Given the description of an element on the screen output the (x, y) to click on. 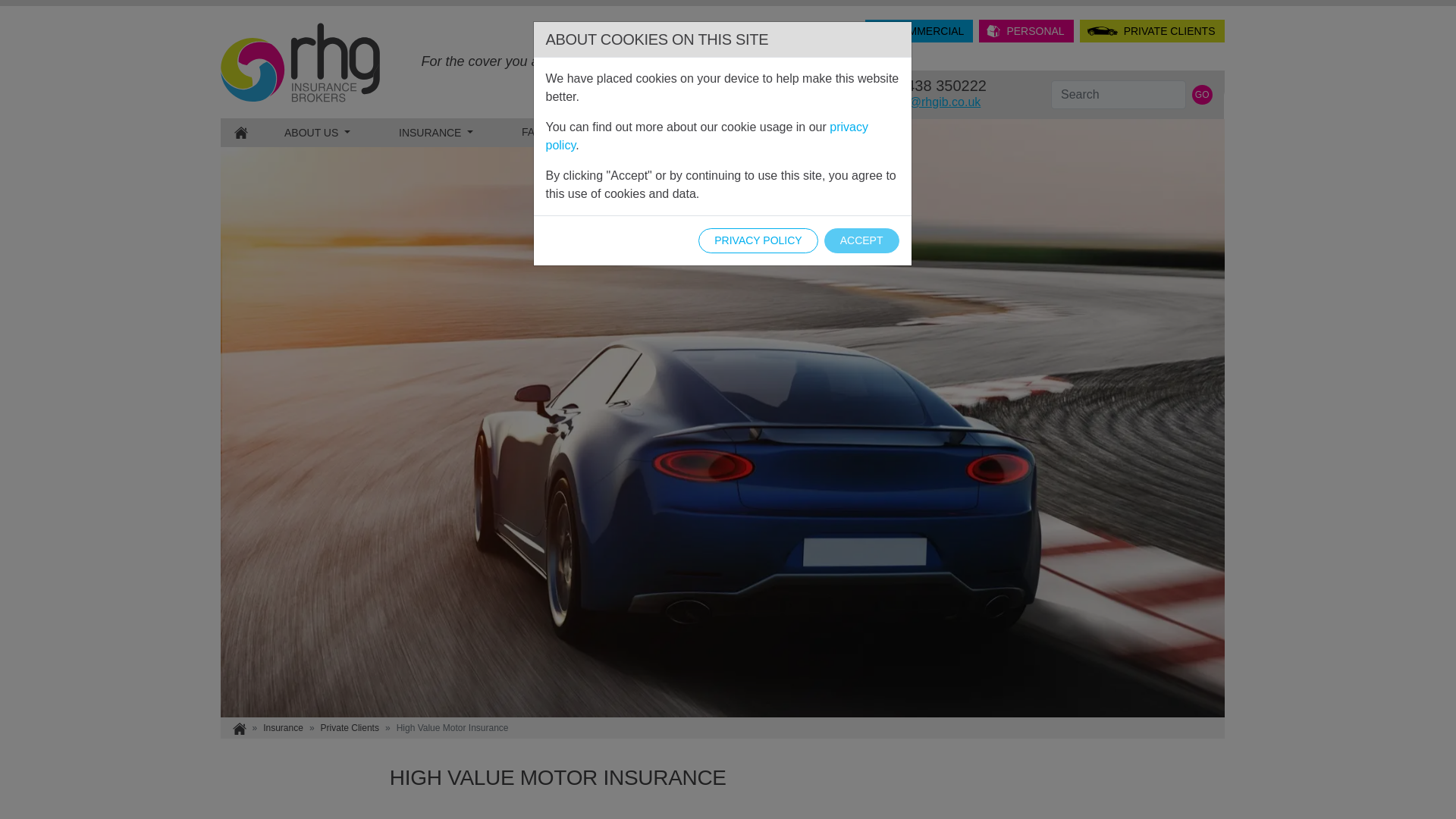
Insurance (282, 727)
PRIVATE CLIENTS (1152, 30)
ABOUT US (316, 132)
INSURANCE (435, 132)
HOME (1025, 30)
Private Clients (240, 132)
CONTACT (349, 727)
Home (622, 132)
